Given the description of an element on the screen output the (x, y) to click on. 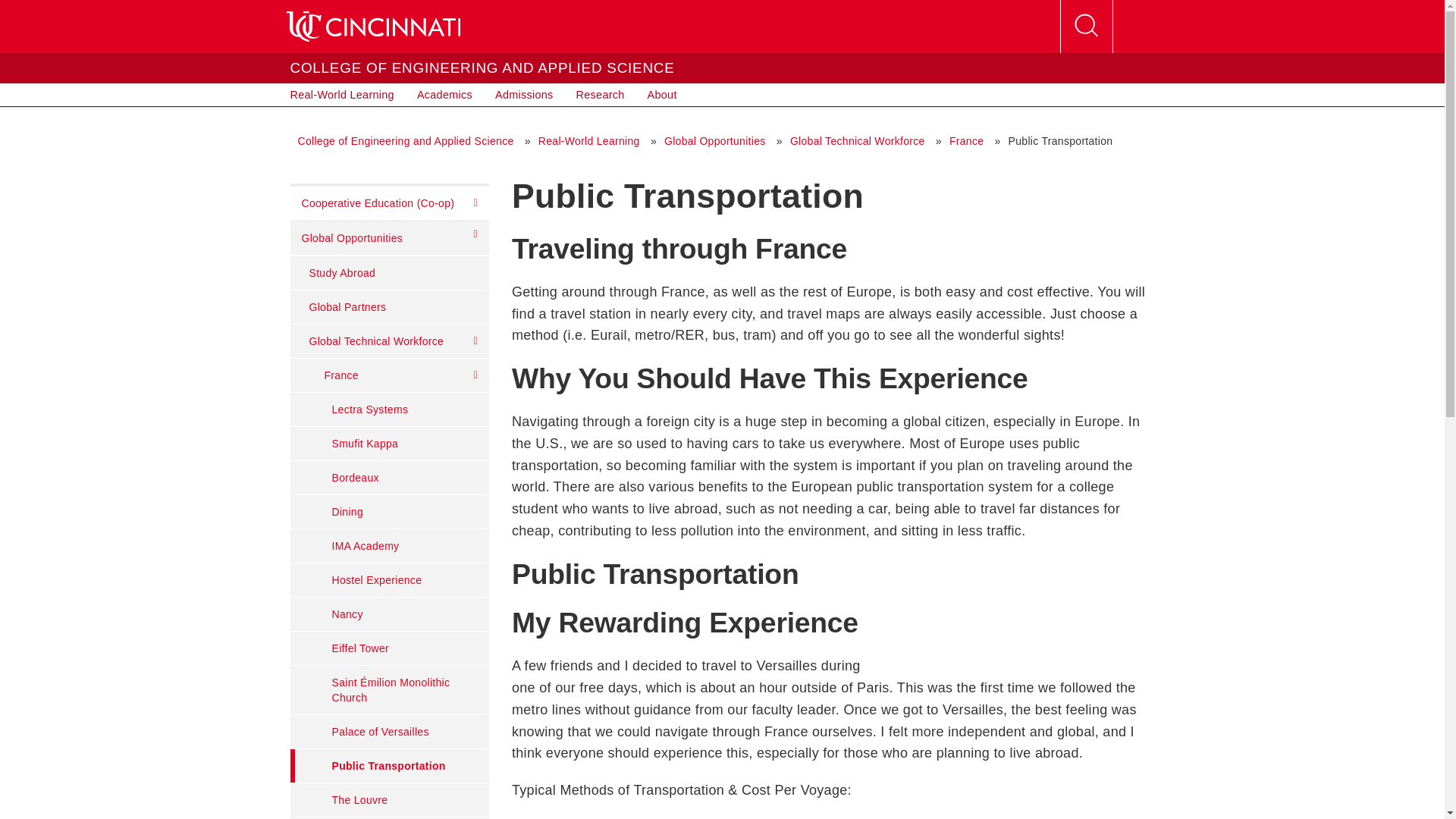
Real-World Learning (342, 94)
magnifying glass (1086, 26)
magnifying glass (1085, 25)
COLLEGE OF ENGINEERING AND APPLIED SCIENCE (481, 67)
